Given the description of an element on the screen output the (x, y) to click on. 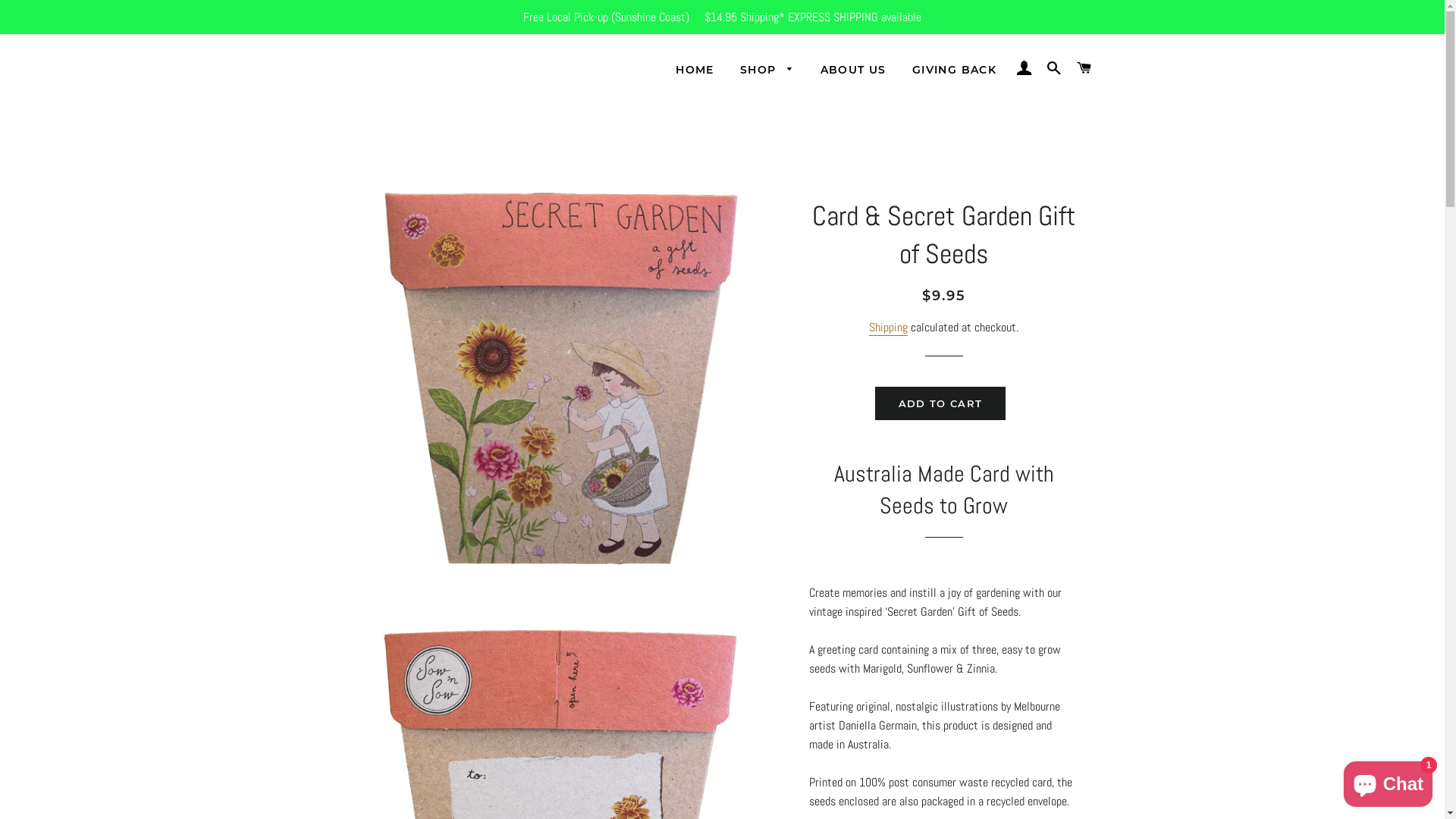
CART Element type: text (1083, 68)
ADD TO CART Element type: text (940, 403)
Shipping Element type: text (888, 327)
ABOUT US Element type: text (853, 70)
LOG IN Element type: text (1023, 68)
SHOP Element type: text (767, 70)
SEARCH Element type: text (1054, 68)
HOME Element type: text (694, 70)
GIVING BACK Element type: text (953, 70)
Shopify online store chat Element type: hover (1388, 780)
